Given the description of an element on the screen output the (x, y) to click on. 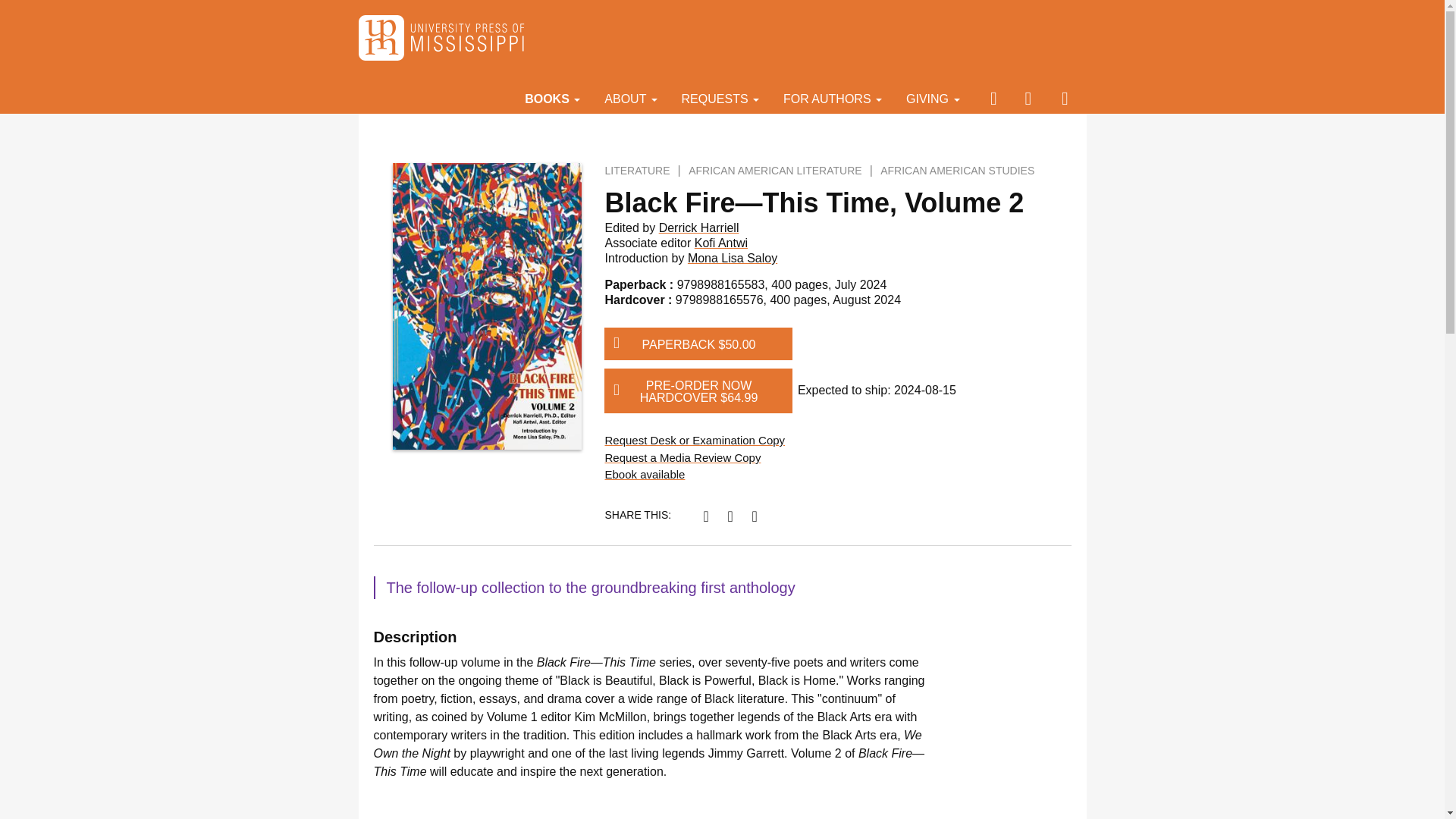
BOOKS (552, 97)
FOR AUTHORS (832, 97)
ABOUT (630, 97)
REQUESTS (720, 97)
